Given the description of an element on the screen output the (x, y) to click on. 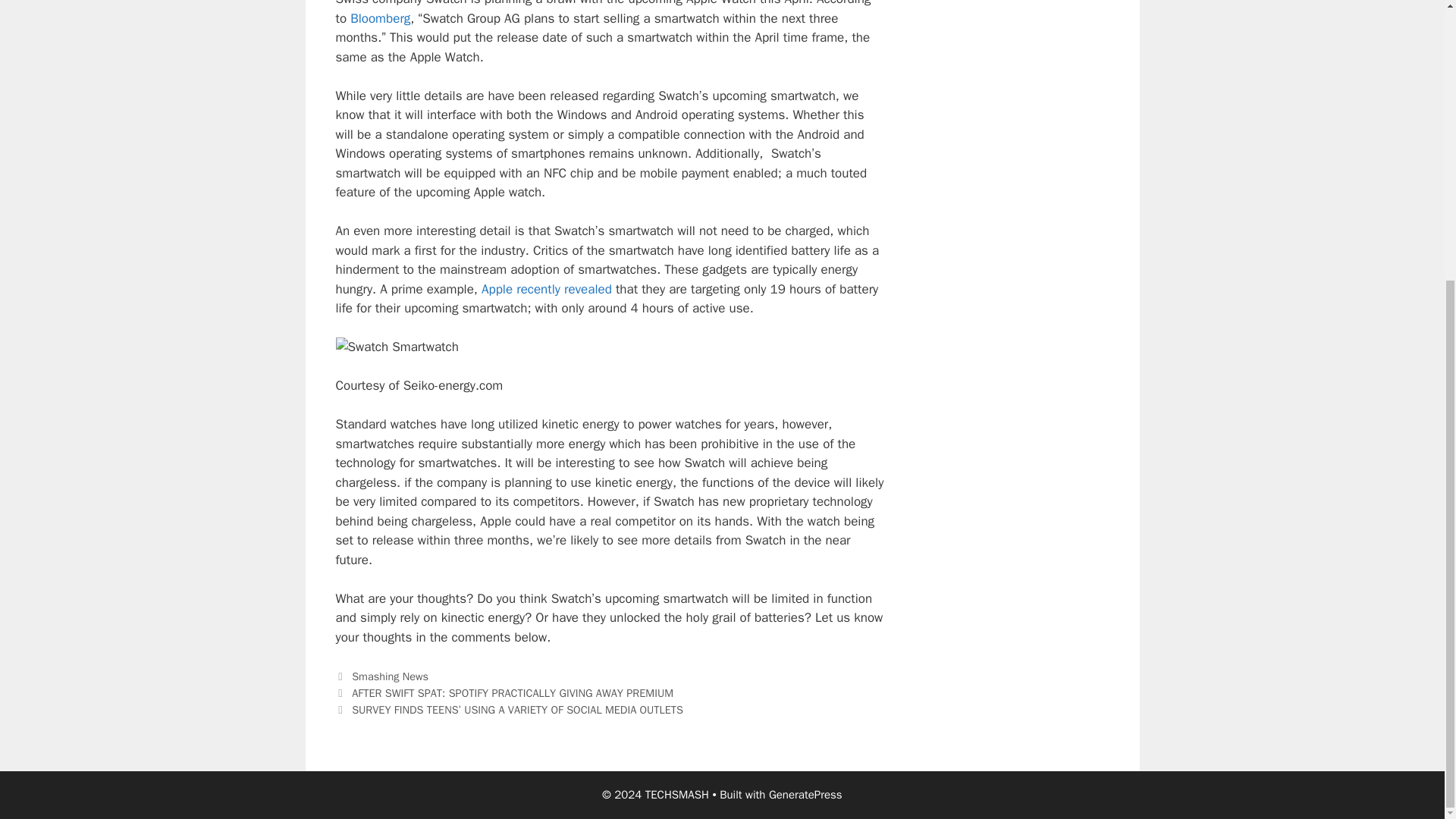
AFTER SWIFT SPAT: SPOTIFY PRACTICALLY GIVING AWAY PREMIUM (512, 693)
Smashing News (390, 676)
Apple recently revealed (546, 289)
Bloomberg (380, 18)
GeneratePress (805, 794)
